Given the description of an element on the screen output the (x, y) to click on. 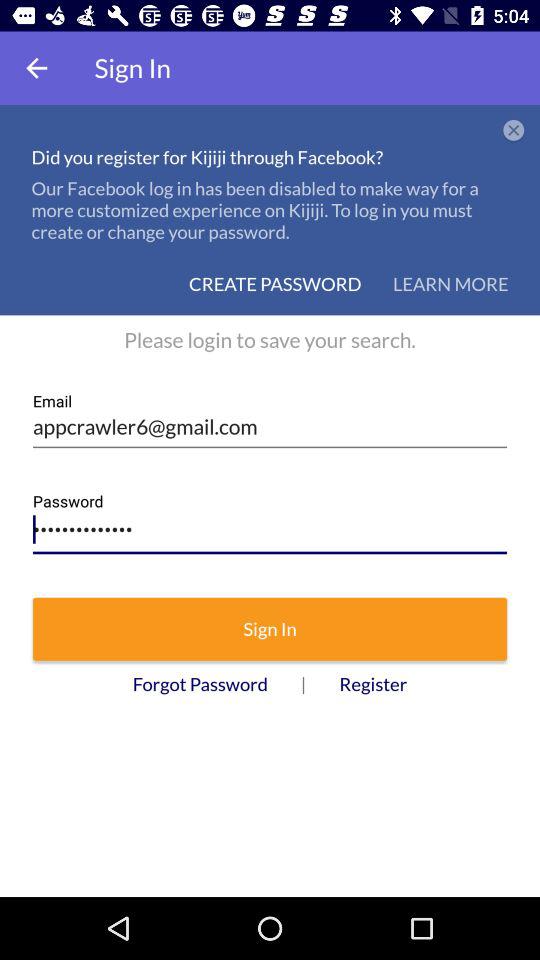
choose item below please login to item (270, 419)
